Given the description of an element on the screen output the (x, y) to click on. 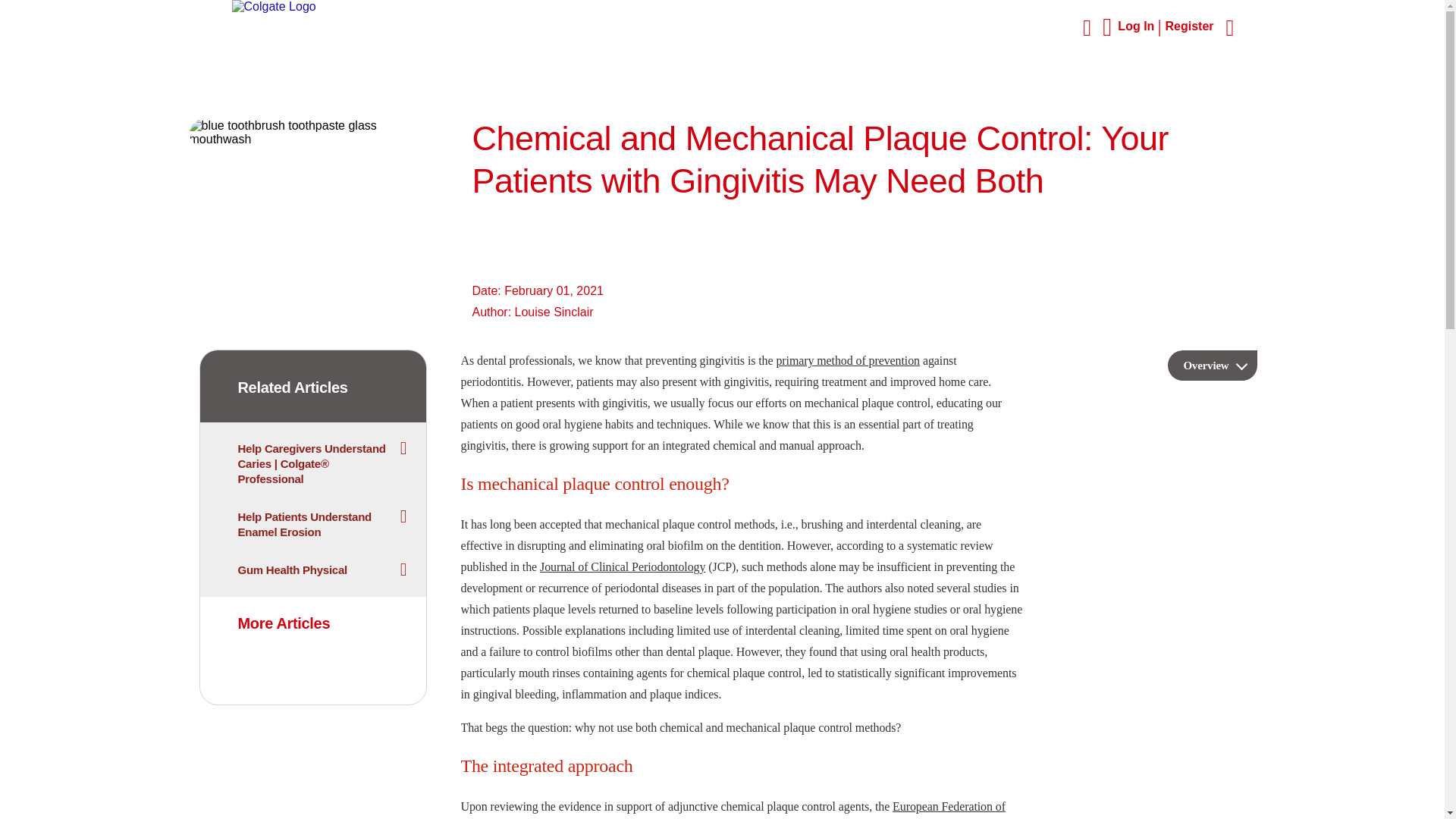
Log In (1141, 25)
Register (1188, 25)
Colgate Logo (273, 6)
home (273, 6)
blue toothbrush toothpaste glass mouthwash (312, 132)
